Given the description of an element on the screen output the (x, y) to click on. 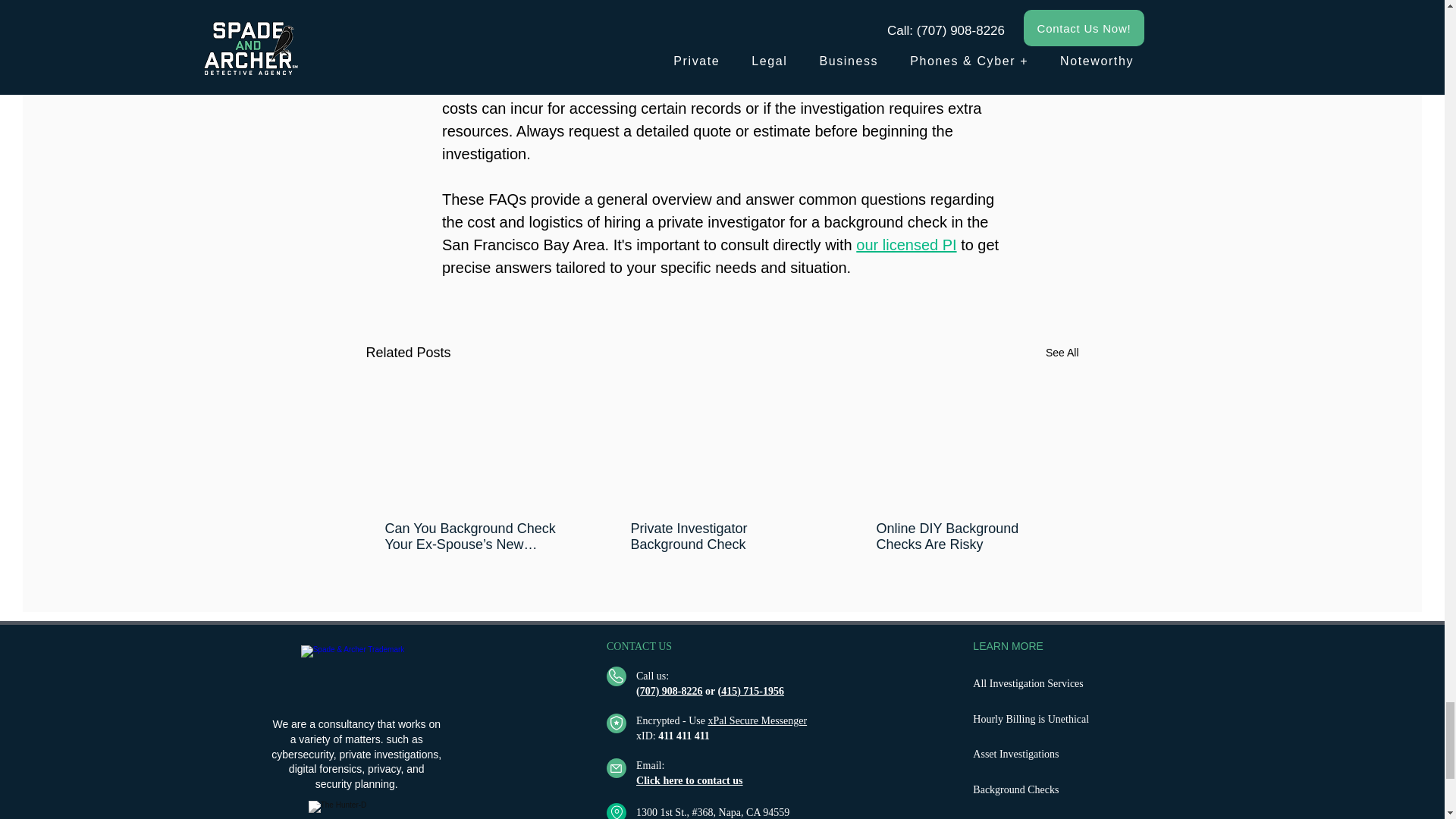
See All (1061, 352)
Online DIY Background Checks Are Risky (967, 536)
Private Investigator Background Check (721, 536)
our licensed PI (906, 243)
Return to home page (356, 675)
